Given the description of an element on the screen output the (x, y) to click on. 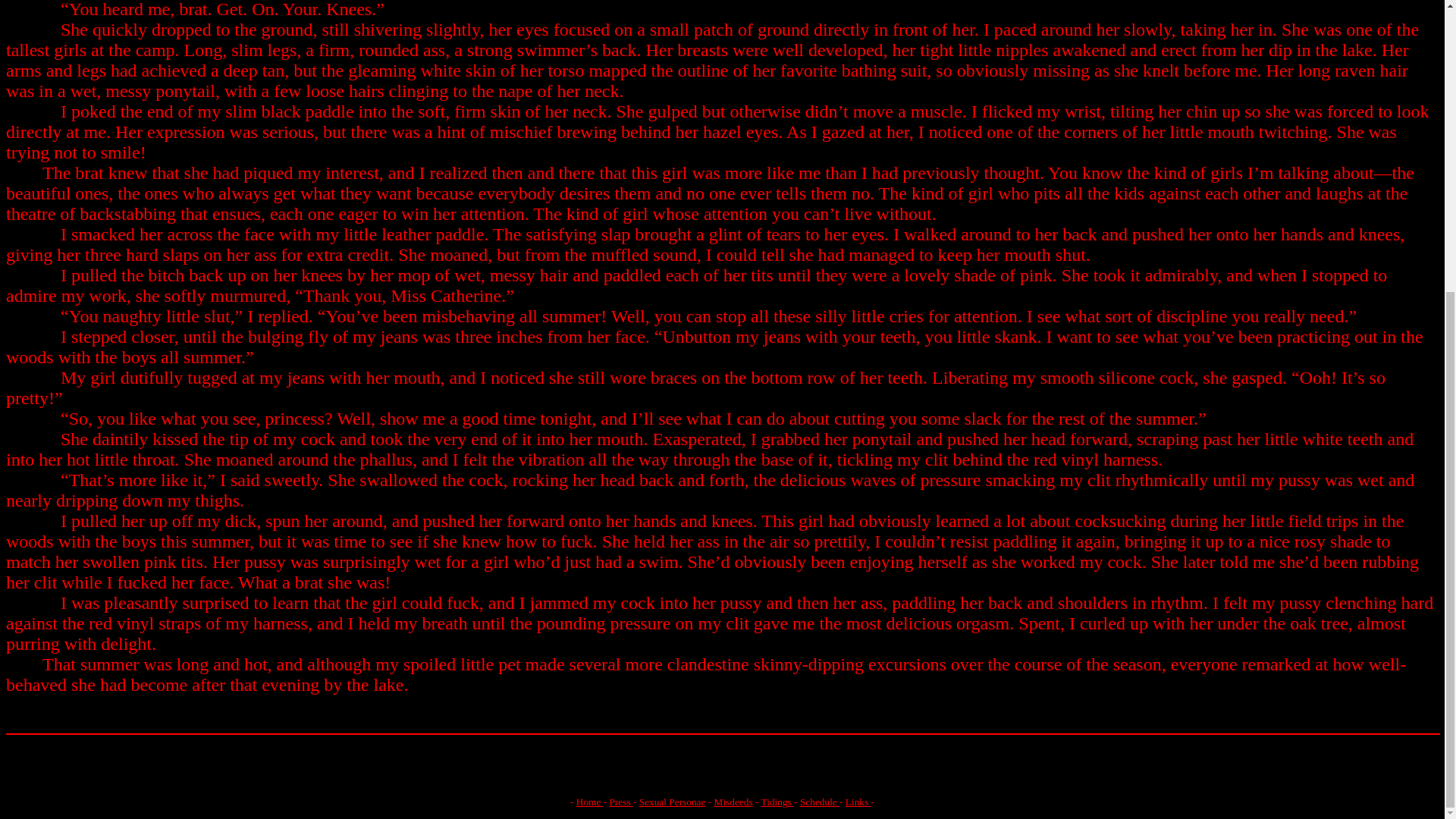
Tidings (777, 801)
Links (857, 801)
Home (590, 801)
Sexual Personae (672, 801)
Misdeeds (733, 801)
Schedule (819, 801)
Press (619, 801)
